Given the description of an element on the screen output the (x, y) to click on. 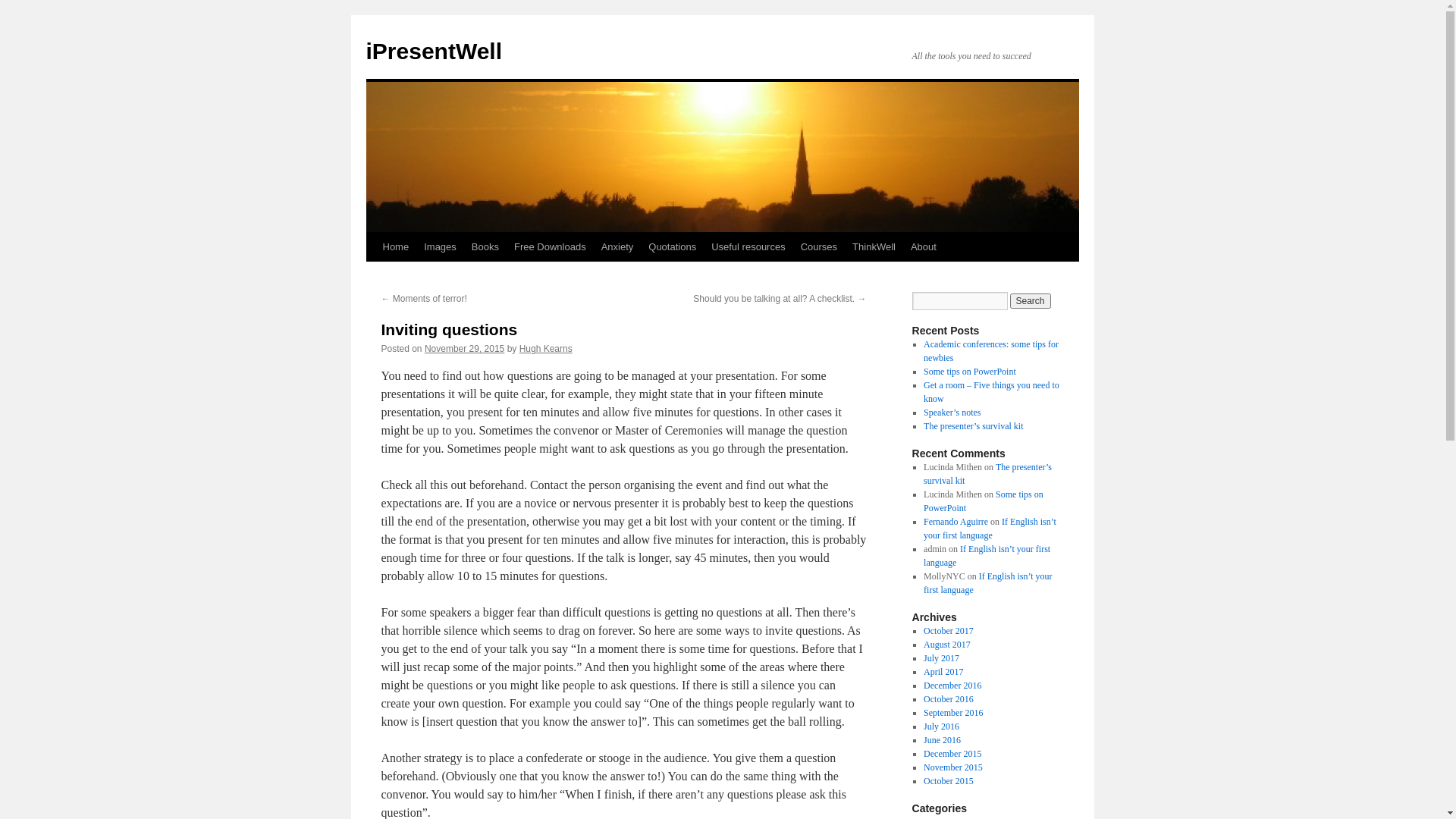
Academic conferences: some tips for newbies Element type: text (990, 350)
December 2015 Element type: text (952, 753)
June 2016 Element type: text (941, 739)
Anxiety Element type: text (617, 246)
Images Element type: text (440, 246)
Some tips on PowerPoint Element type: text (969, 371)
September 2016 Element type: text (952, 712)
October 2017 Element type: text (948, 630)
October 2016 Element type: text (948, 698)
Skip to content Element type: text (372, 275)
ThinkWell Element type: text (873, 246)
Quotations Element type: text (671, 246)
Search Element type: text (1030, 300)
Fernando Aguirre Element type: text (955, 521)
October 2015 Element type: text (948, 780)
Useful resources Element type: text (748, 246)
Courses Element type: text (818, 246)
November 2015 Element type: text (952, 767)
April 2017 Element type: text (943, 671)
About Element type: text (923, 246)
iPresentWell Element type: text (433, 50)
July 2016 Element type: text (941, 726)
August 2017 Element type: text (946, 644)
Books Element type: text (485, 246)
July 2017 Element type: text (941, 657)
November 29, 2015 Element type: text (464, 348)
Free Downloads Element type: text (549, 246)
December 2016 Element type: text (952, 685)
Hugh Kearns Element type: text (545, 348)
Home Element type: text (395, 246)
Some tips on PowerPoint Element type: text (983, 501)
